Given the description of an element on the screen output the (x, y) to click on. 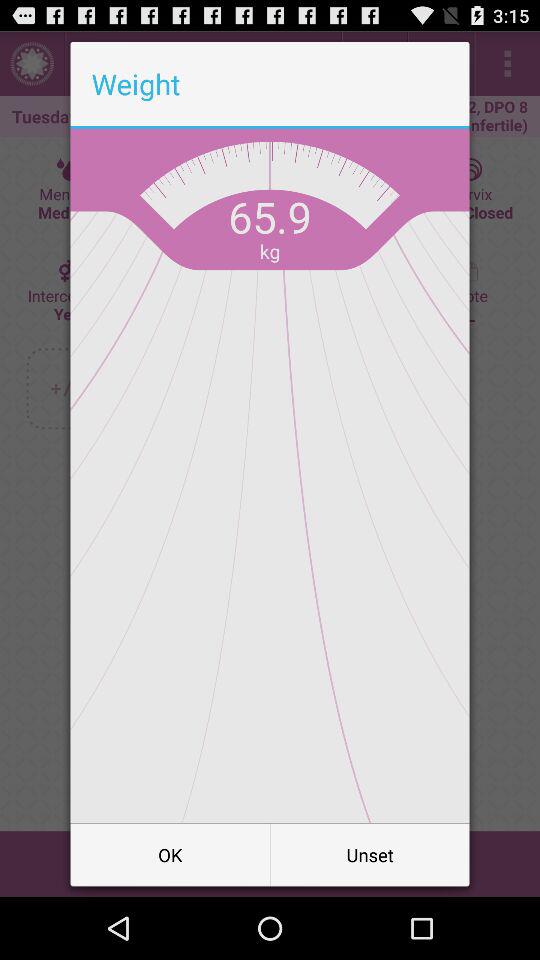
turn off item at the bottom left corner (170, 854)
